Given the description of an element on the screen output the (x, y) to click on. 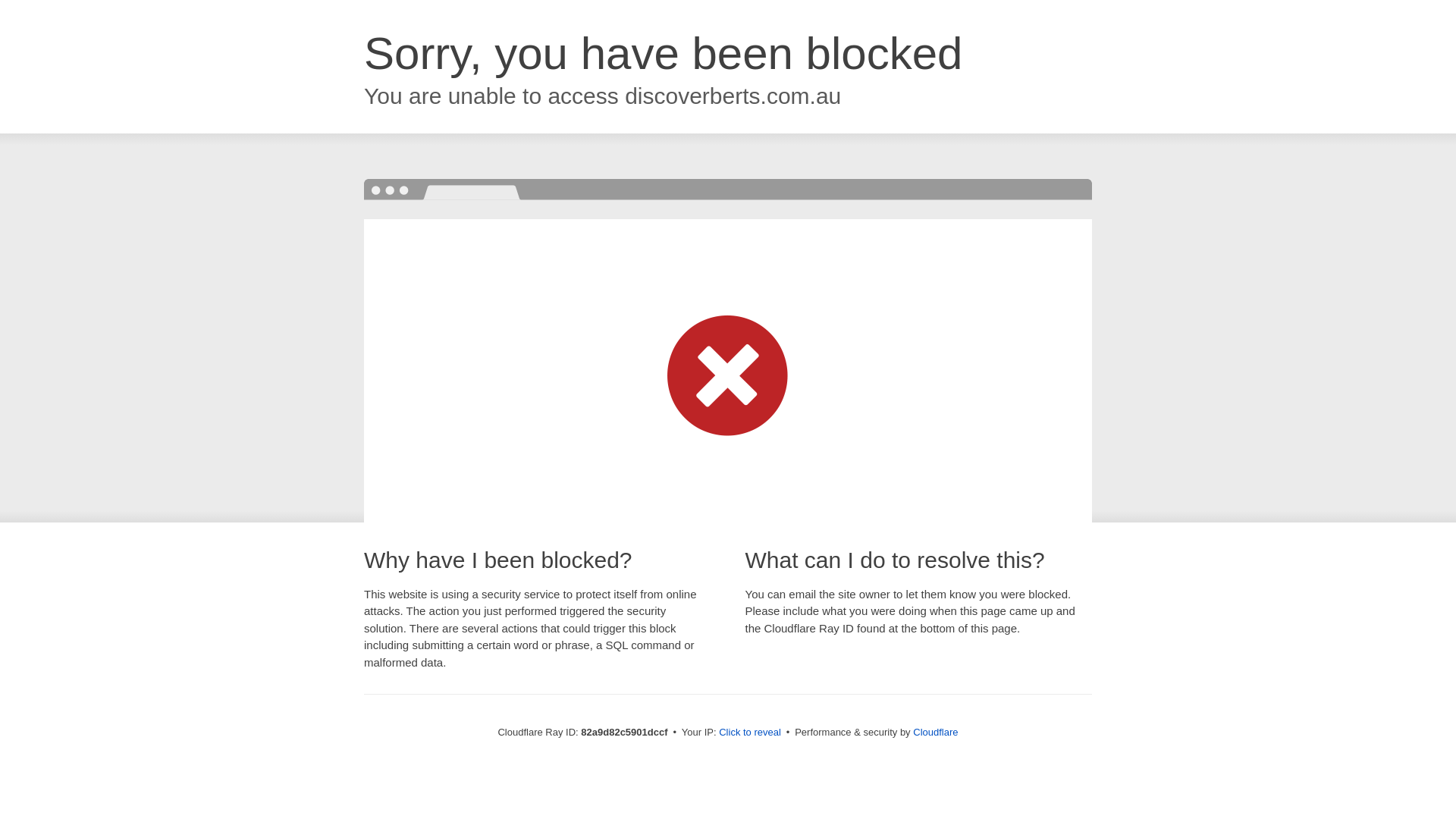
Cloudflare Element type: text (935, 731)
Click to reveal Element type: text (749, 732)
